Given the description of an element on the screen output the (x, y) to click on. 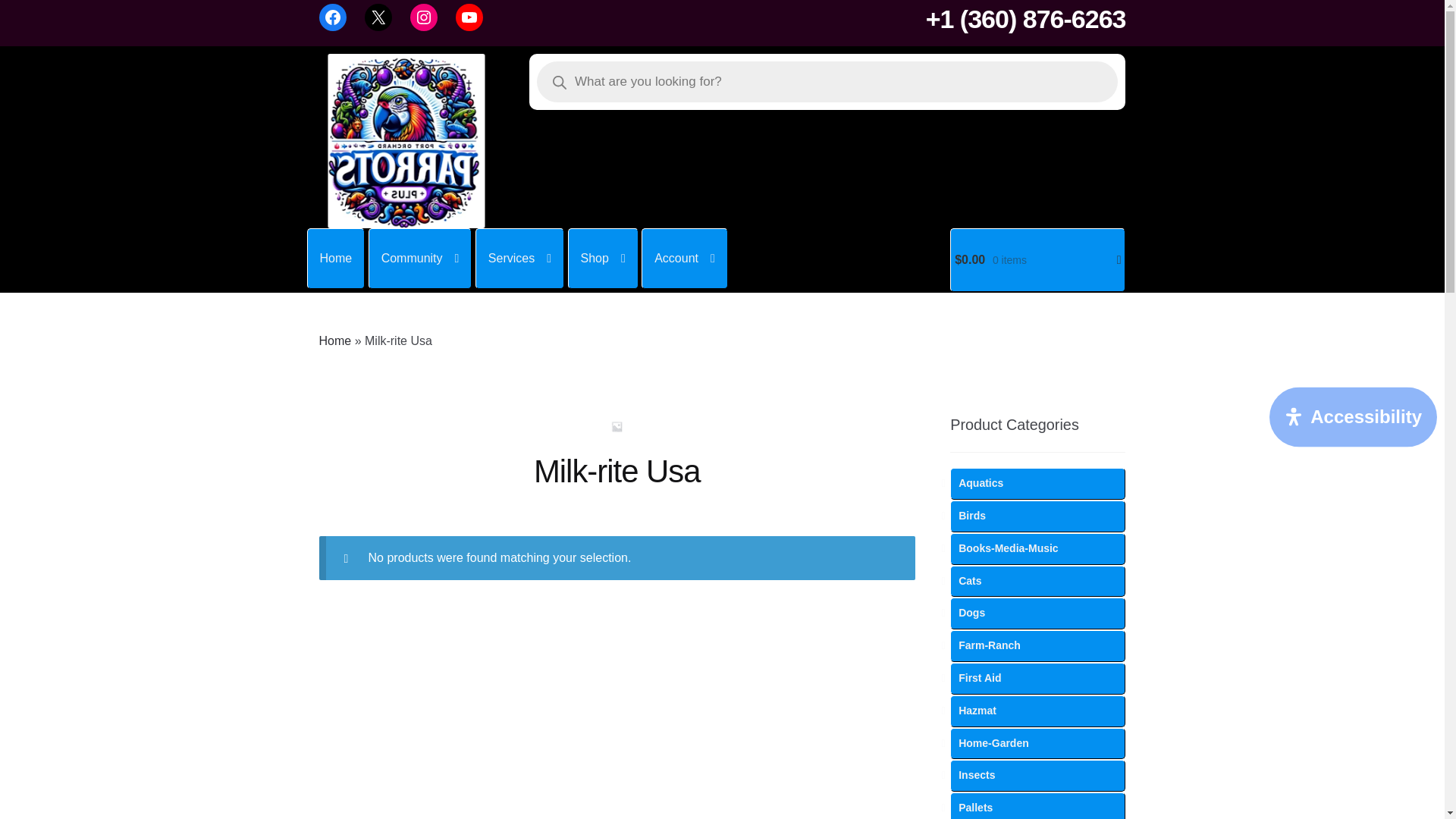
YouTube (469, 17)
X (378, 17)
Home (336, 258)
Instagram (424, 17)
View your shopping cart (1038, 259)
Shop (603, 258)
Account (685, 258)
Facebook (332, 17)
Services (520, 258)
Accessibility (1353, 417)
